Given the description of an element on the screen output the (x, y) to click on. 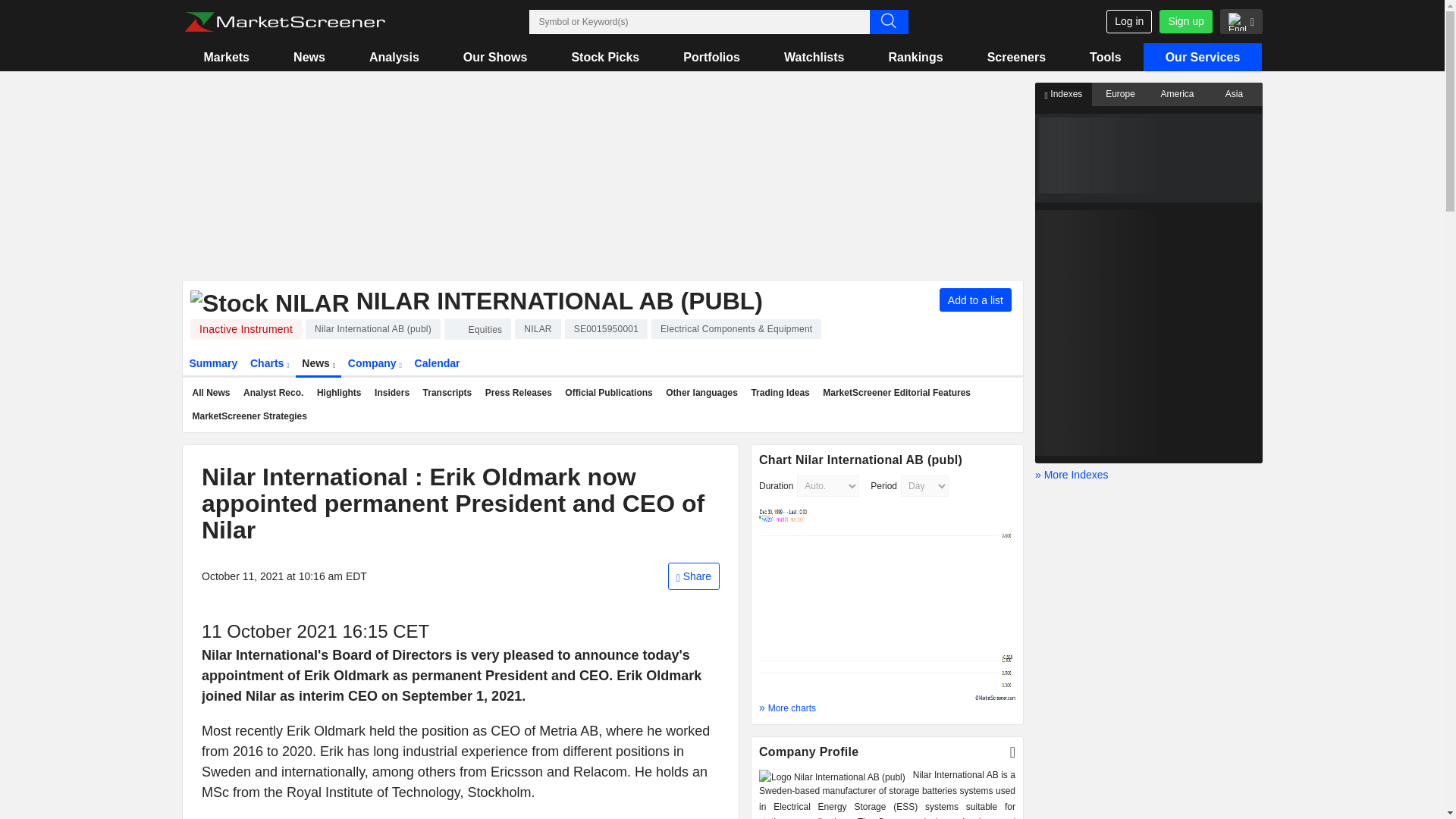
Sign up (1184, 21)
Markets (226, 57)
Advanced search (888, 21)
Marketscreener: stock market and financial news (284, 21)
Log in (1128, 21)
